Given the description of an element on the screen output the (x, y) to click on. 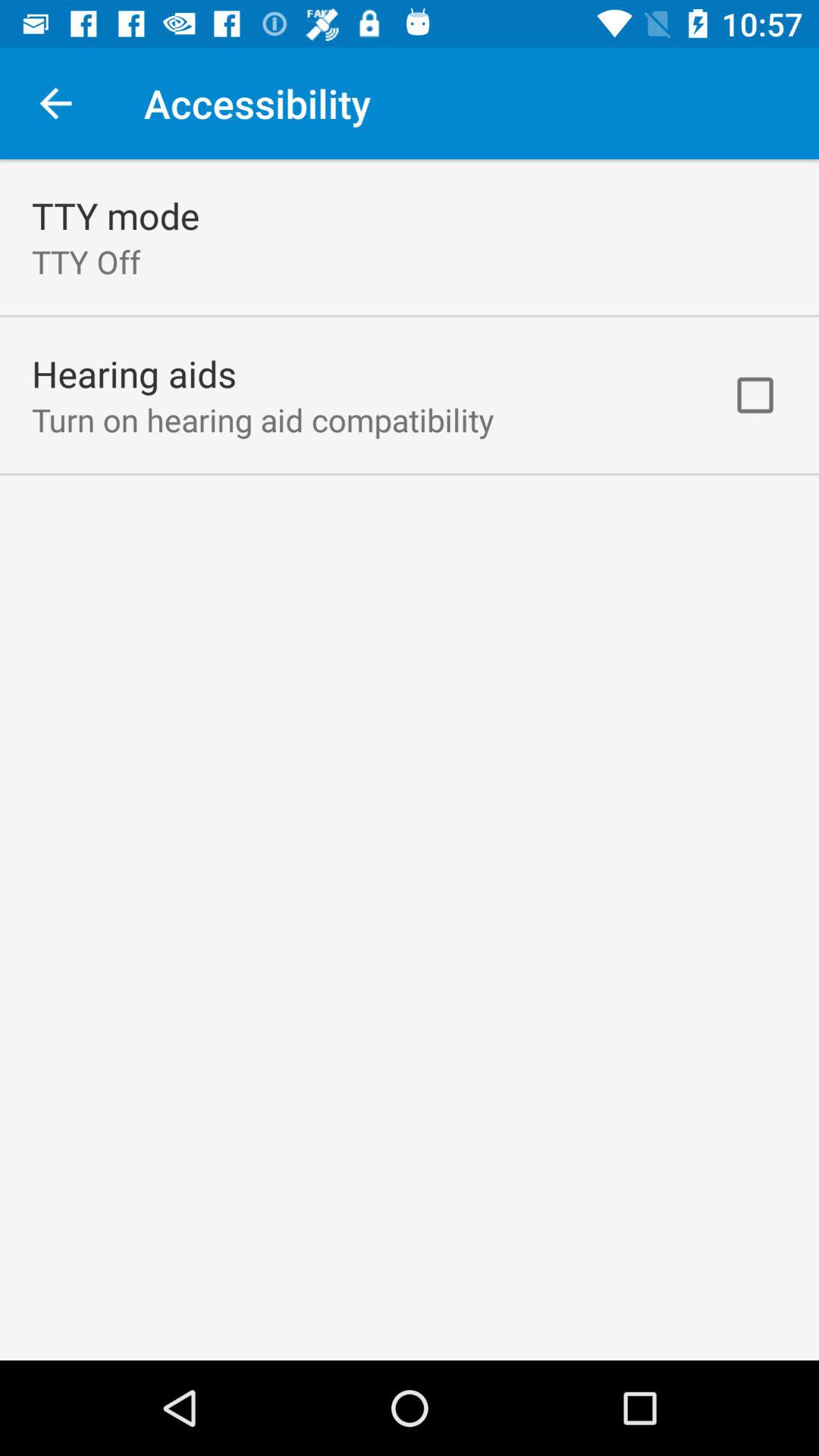
select item below the tty mode icon (85, 261)
